Given the description of an element on the screen output the (x, y) to click on. 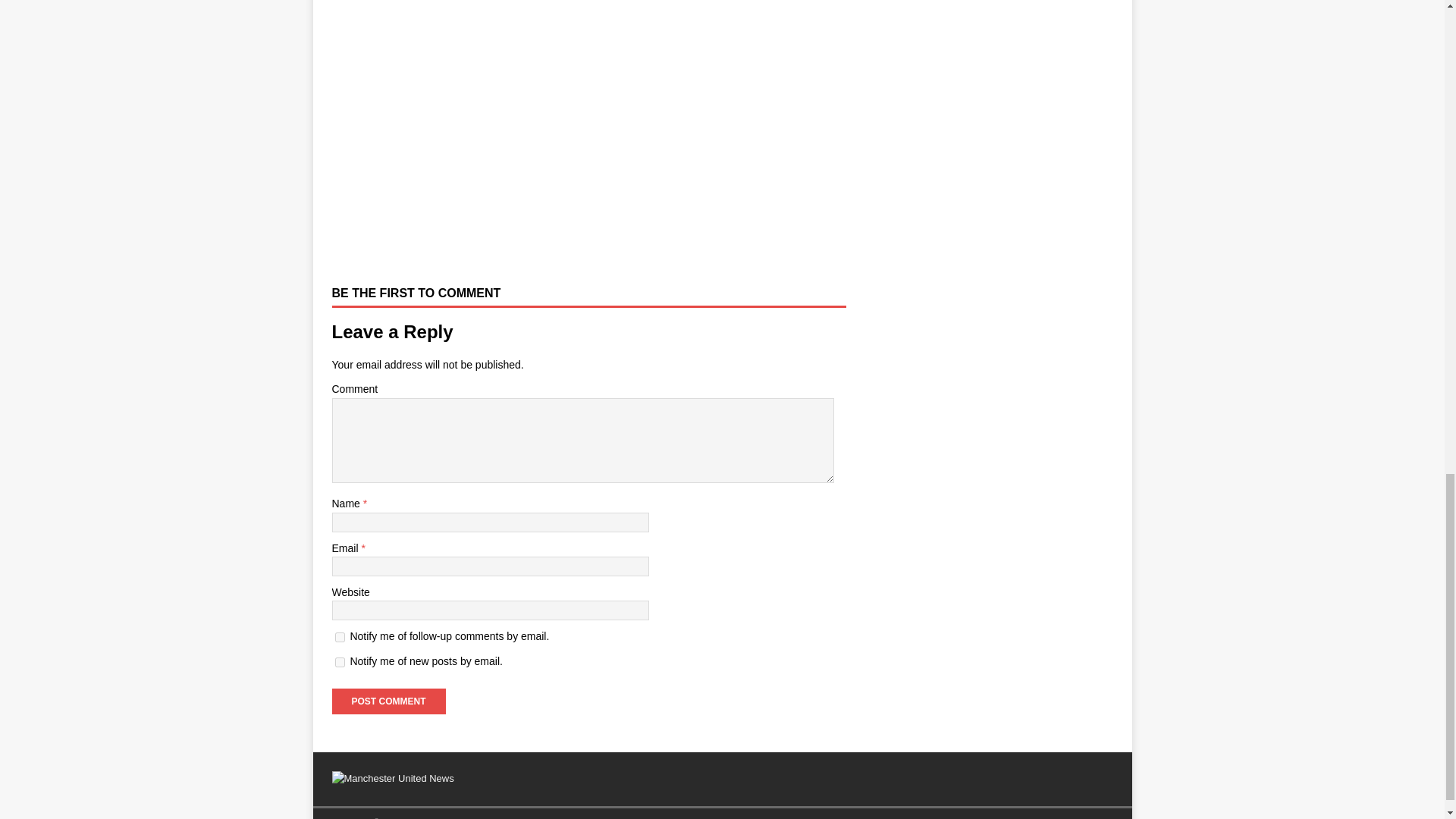
Post Comment (388, 701)
subscribe (339, 662)
subscribe (339, 637)
Manchester United News (392, 778)
Post Comment (388, 701)
